Given the description of an element on the screen output the (x, y) to click on. 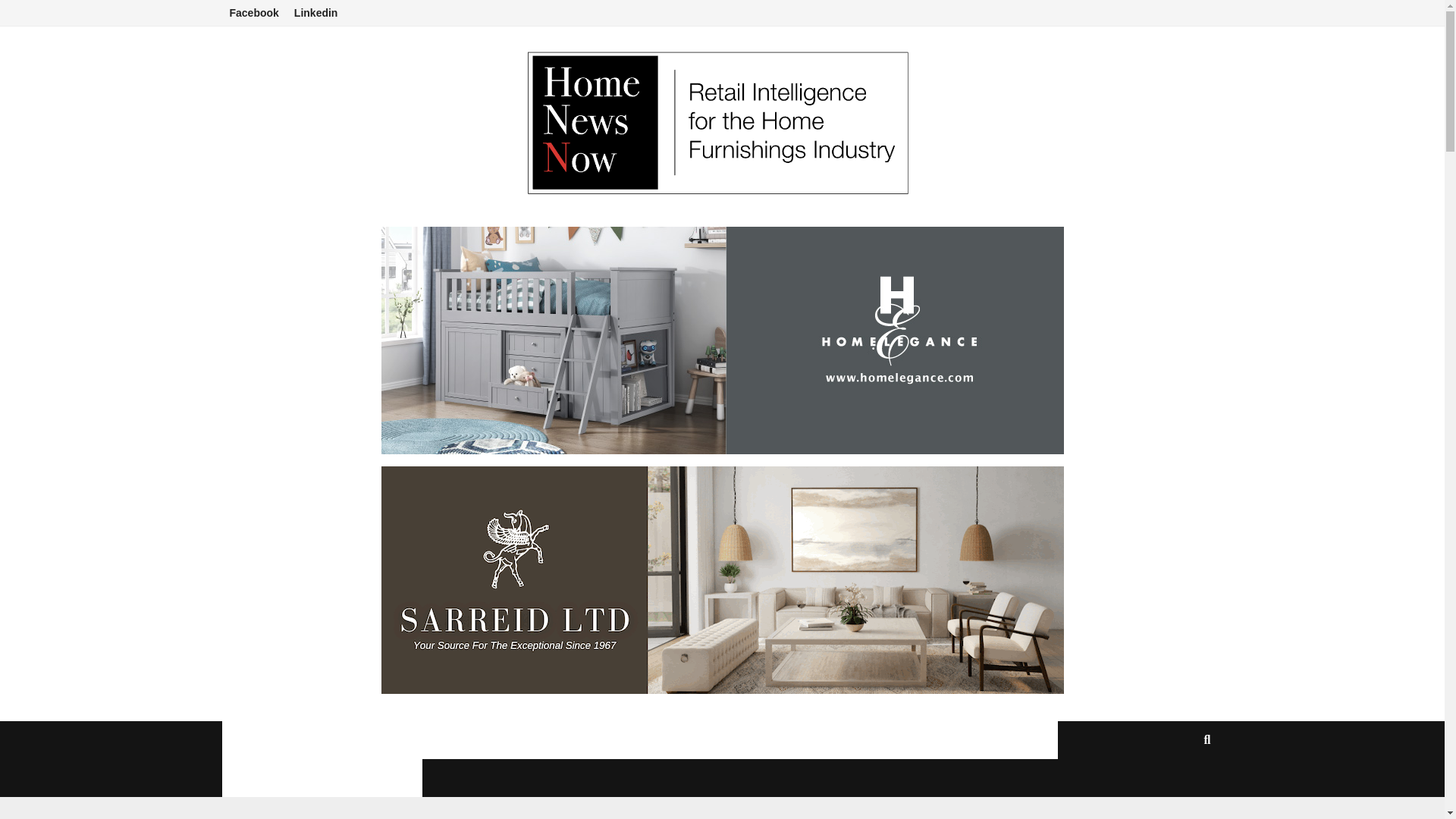
ABOUT US (522, 740)
Facebook (253, 13)
HNN 125 (436, 740)
CONSUMER INSIGHTS NOW (321, 777)
SUBSCRIBE (1010, 740)
DESIGN NEWS NOW (785, 740)
LATEST NEWS (336, 740)
Linkedin (316, 13)
HOME (251, 740)
ADVERTISE (909, 740)
